Given the description of an element on the screen output the (x, y) to click on. 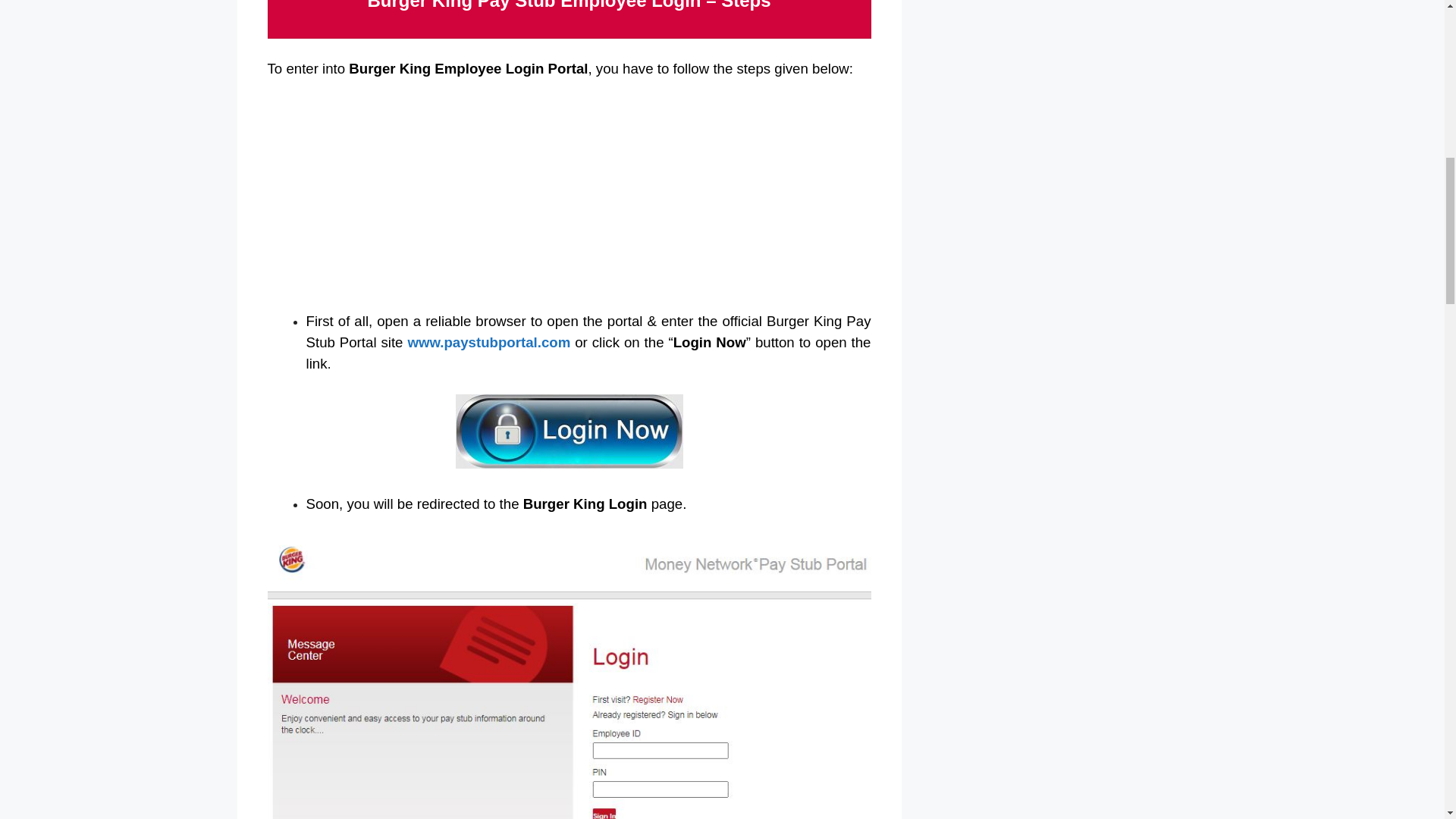
www.paystubportal.com (488, 342)
Advertisement (568, 204)
